Given the description of an element on the screen output the (x, y) to click on. 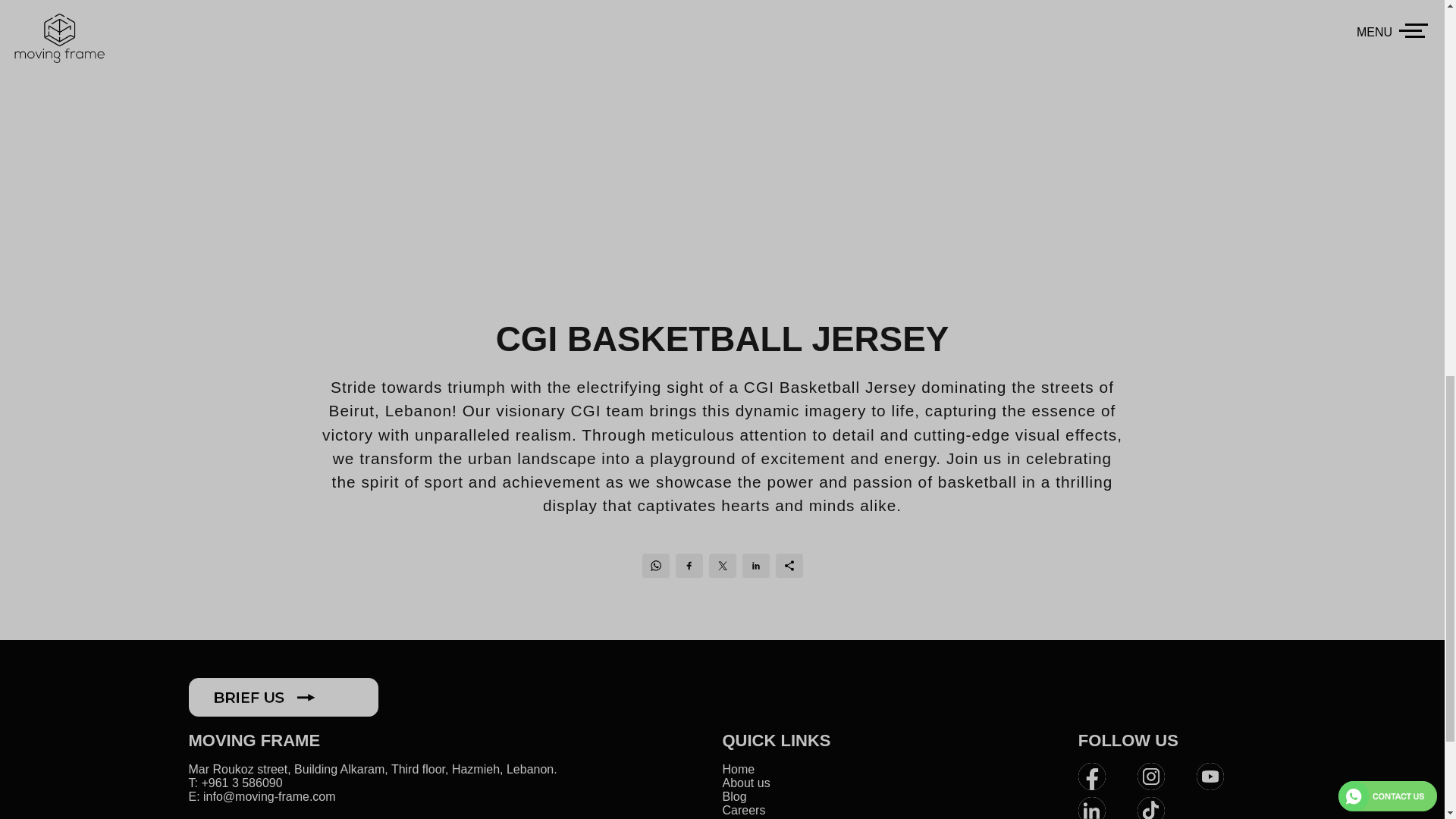
Privacy Policy (759, 818)
About us (746, 782)
Blog (733, 796)
Home (738, 768)
Careers (743, 809)
